Given the description of an element on the screen output the (x, y) to click on. 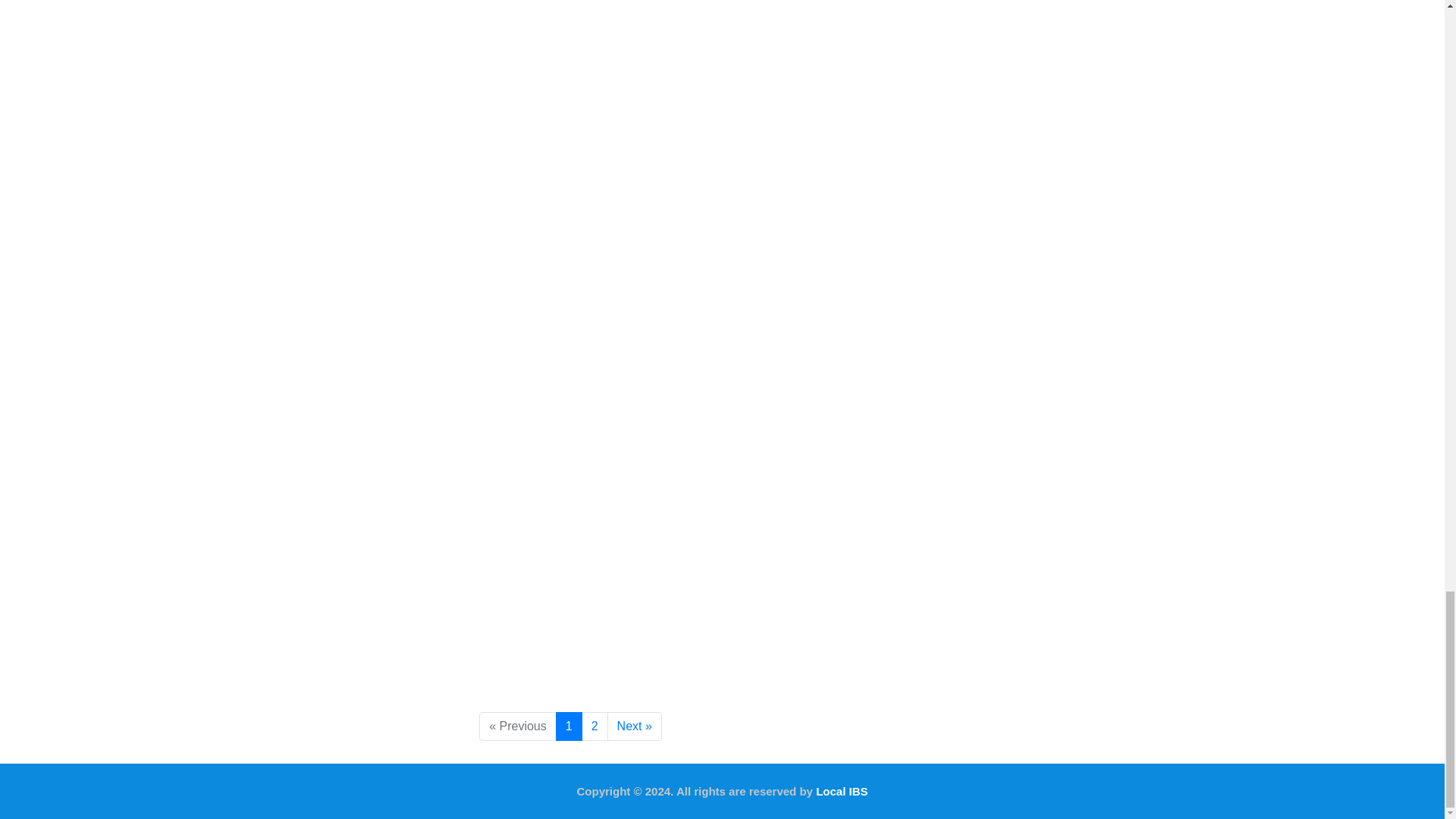
2 (594, 726)
Local IBS (841, 790)
